Given the description of an element on the screen output the (x, y) to click on. 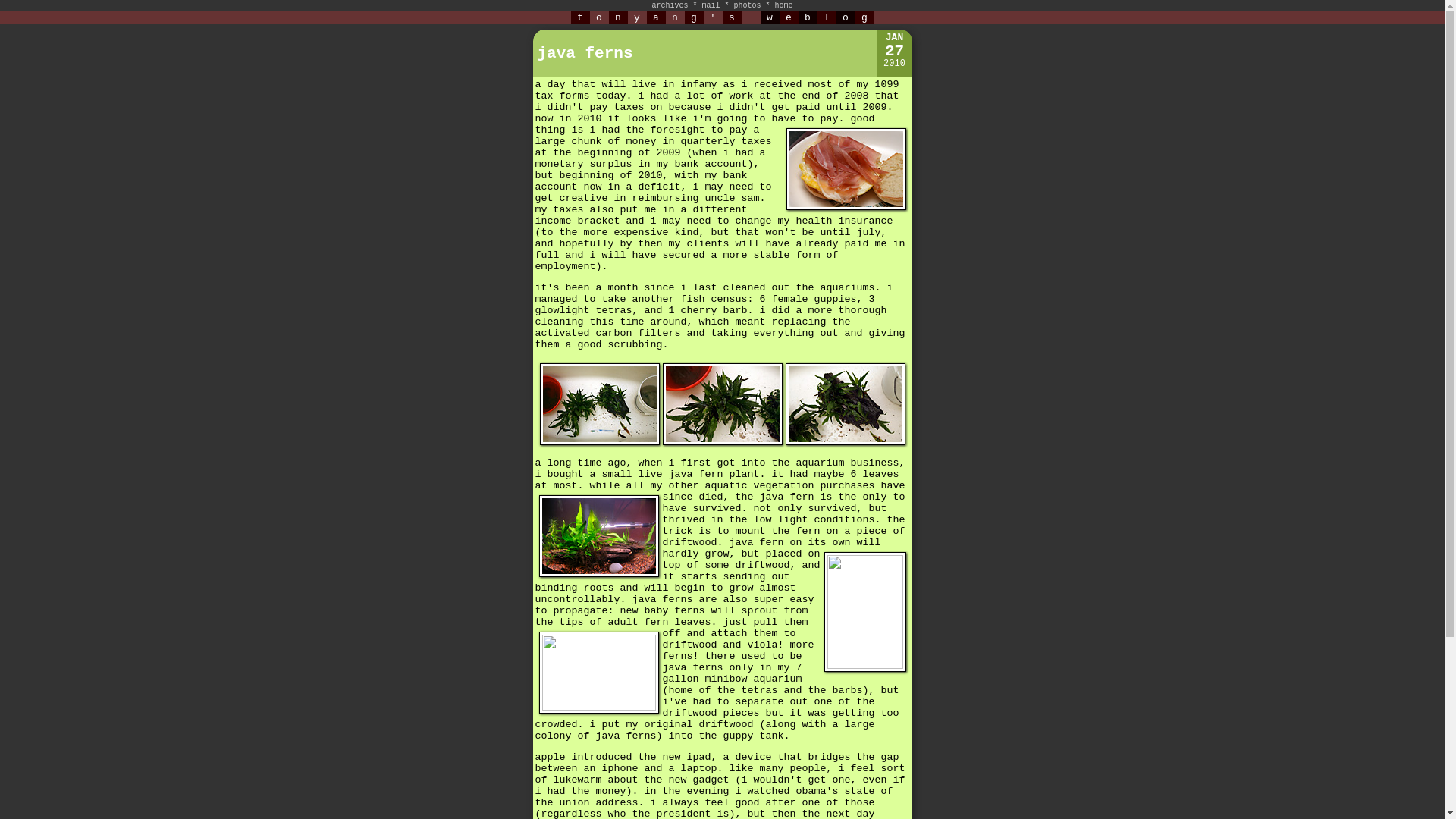
java ferns (584, 52)
home (783, 5)
mail (710, 5)
photos (747, 5)
original driftwood with original java ferns (722, 441)
new larger piece of driftwood of successive fern colonies (845, 441)
